Given the description of an element on the screen output the (x, y) to click on. 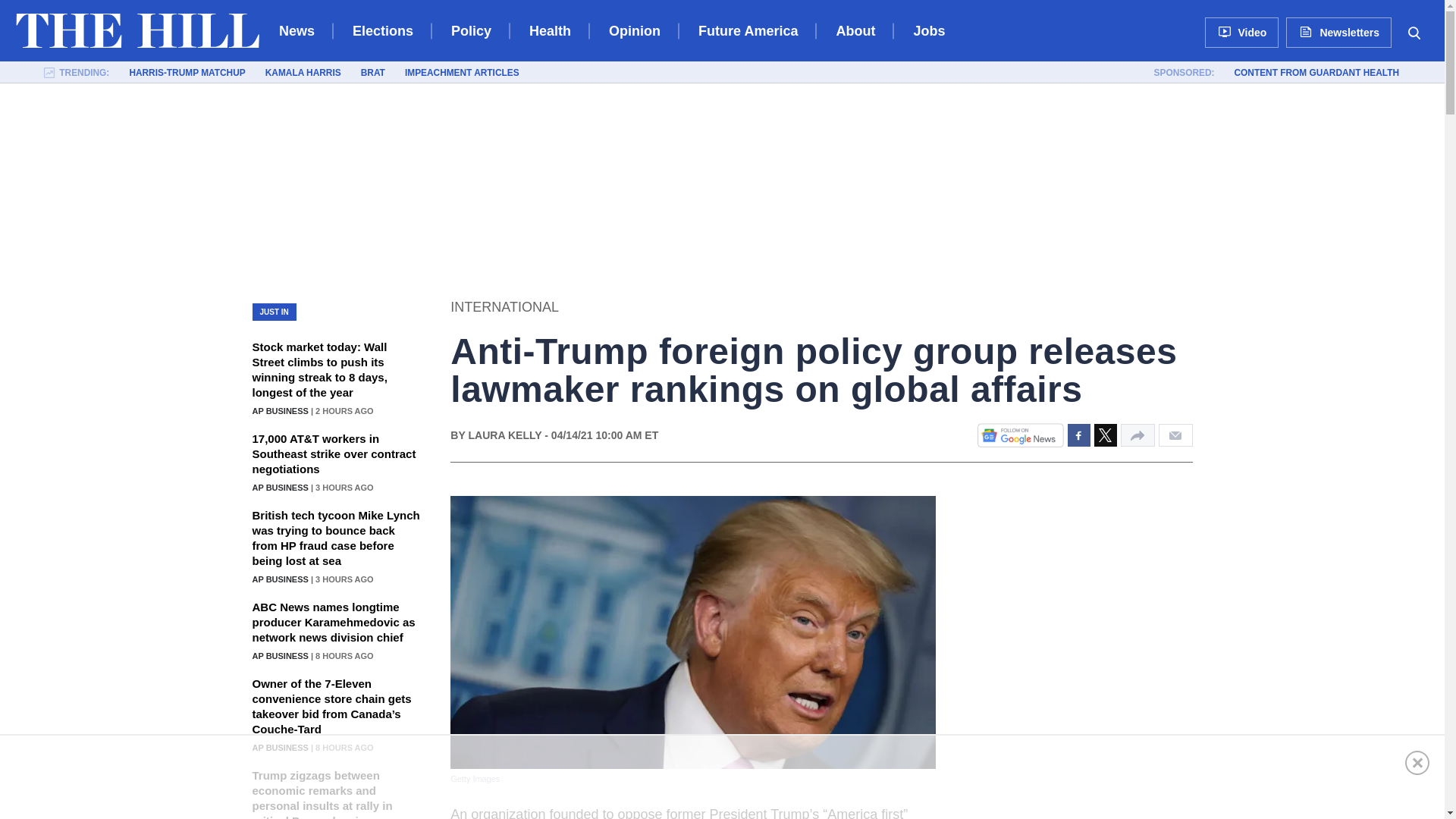
Policy (471, 30)
News (296, 30)
International (504, 307)
3rd party ad content (721, 776)
Search (1414, 31)
Elections (382, 30)
